Given the description of an element on the screen output the (x, y) to click on. 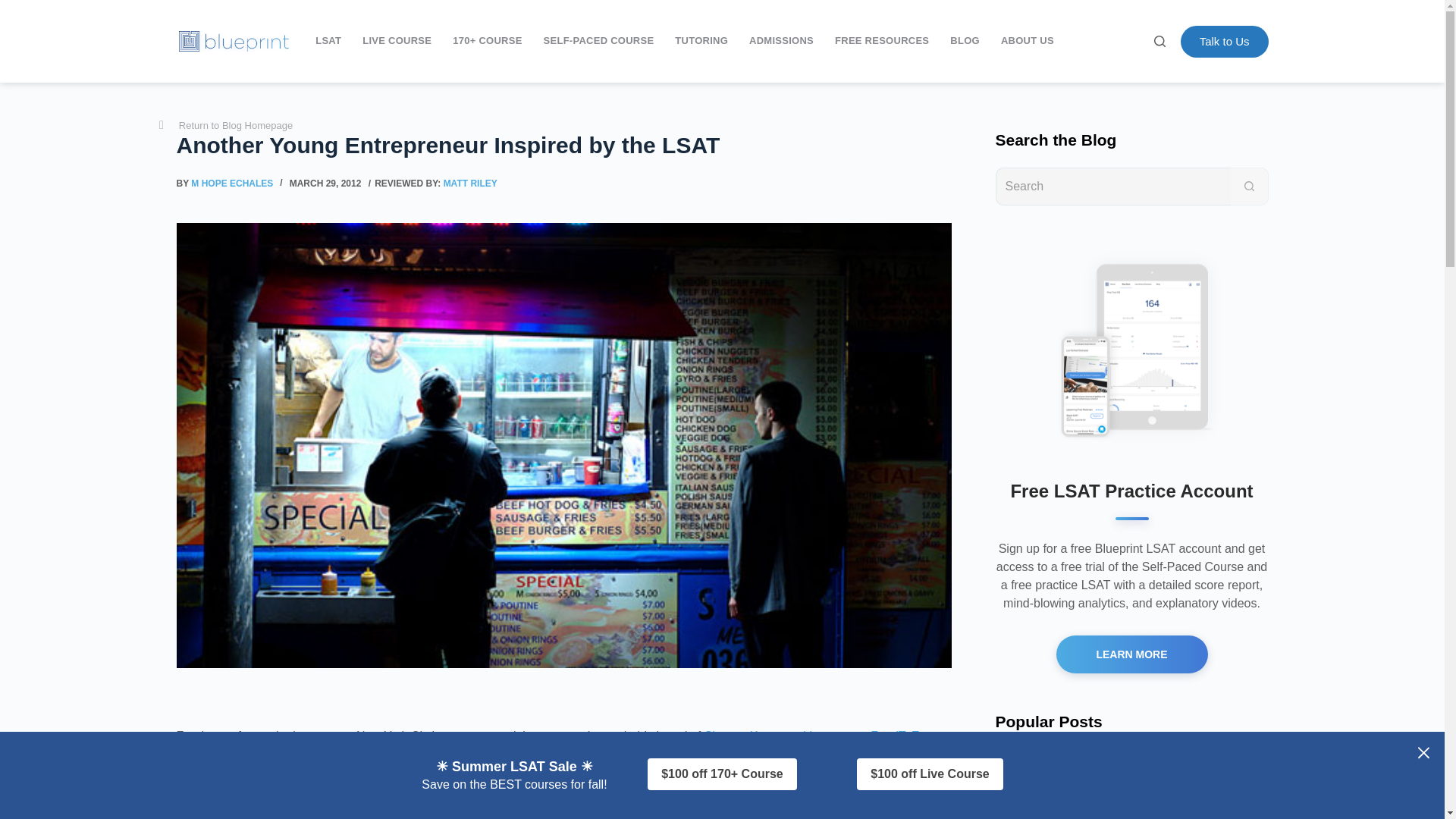
Skip to content (15, 7)
Sharma Kapur and her startup FoodToEat (817, 735)
the next Sara Blakely (362, 814)
Talk to Us (1224, 41)
SELF-PACED COURSE (598, 41)
Return to Blog Homepage (225, 125)
Another Young Entrepreneur Inspired by the LSAT (563, 144)
Law Schools That Offer Full-Ride Scholarships (1165, 777)
MATT RILEY (470, 183)
LIVE COURSE (397, 41)
ADMISSIONS (781, 41)
FREE RESOURCES (882, 41)
LEARN MORE (1131, 654)
Search for... (1112, 185)
Posts by M Hope Echales (231, 183)
